Given the description of an element on the screen output the (x, y) to click on. 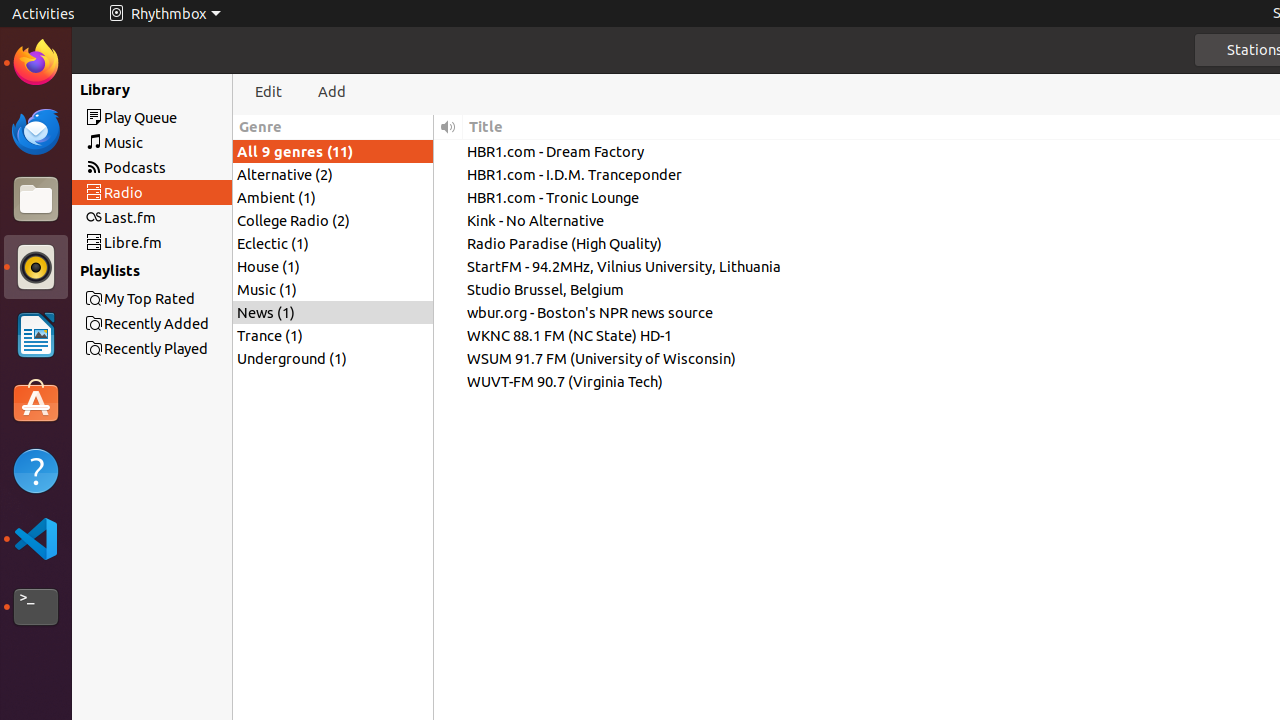
Ambient (1) Element type: table-cell (333, 197)
Activities Element type: label (43, 13)
Alternative (2) Element type: table-cell (333, 174)
My Top Rated Element type: table-cell (188, 298)
